Given the description of an element on the screen output the (x, y) to click on. 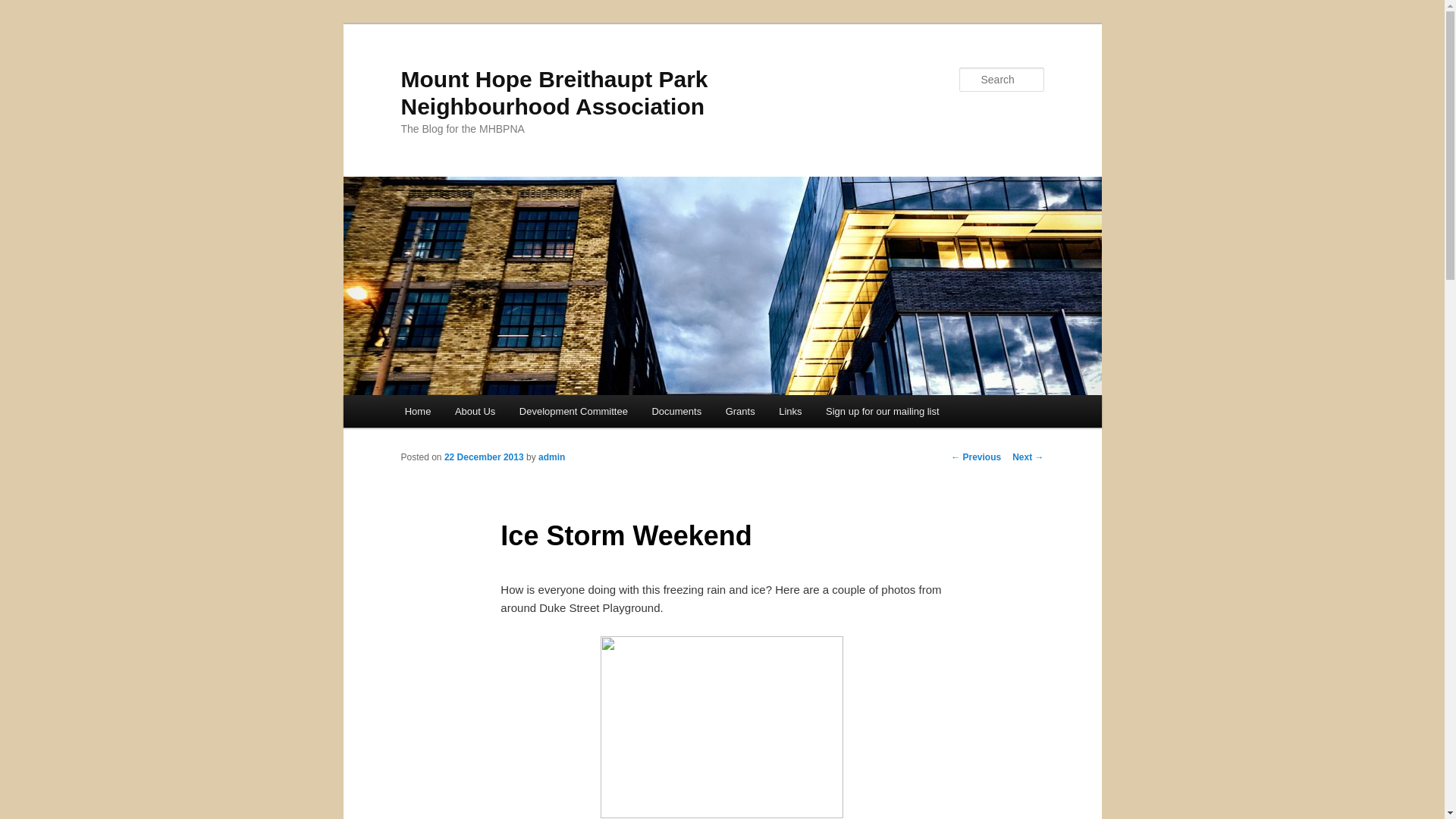
About Us (474, 410)
admin (551, 457)
Sign up for our mailing list (881, 410)
Documents (676, 410)
Development Committee (573, 410)
View all posts by admin (551, 457)
5:46 pm (484, 457)
22 December 2013 (484, 457)
Grants (740, 410)
Links (790, 410)
Mount Hope Breithaupt Park Neighbourhood Association (553, 92)
Home (417, 410)
Search (24, 8)
